Given the description of an element on the screen output the (x, y) to click on. 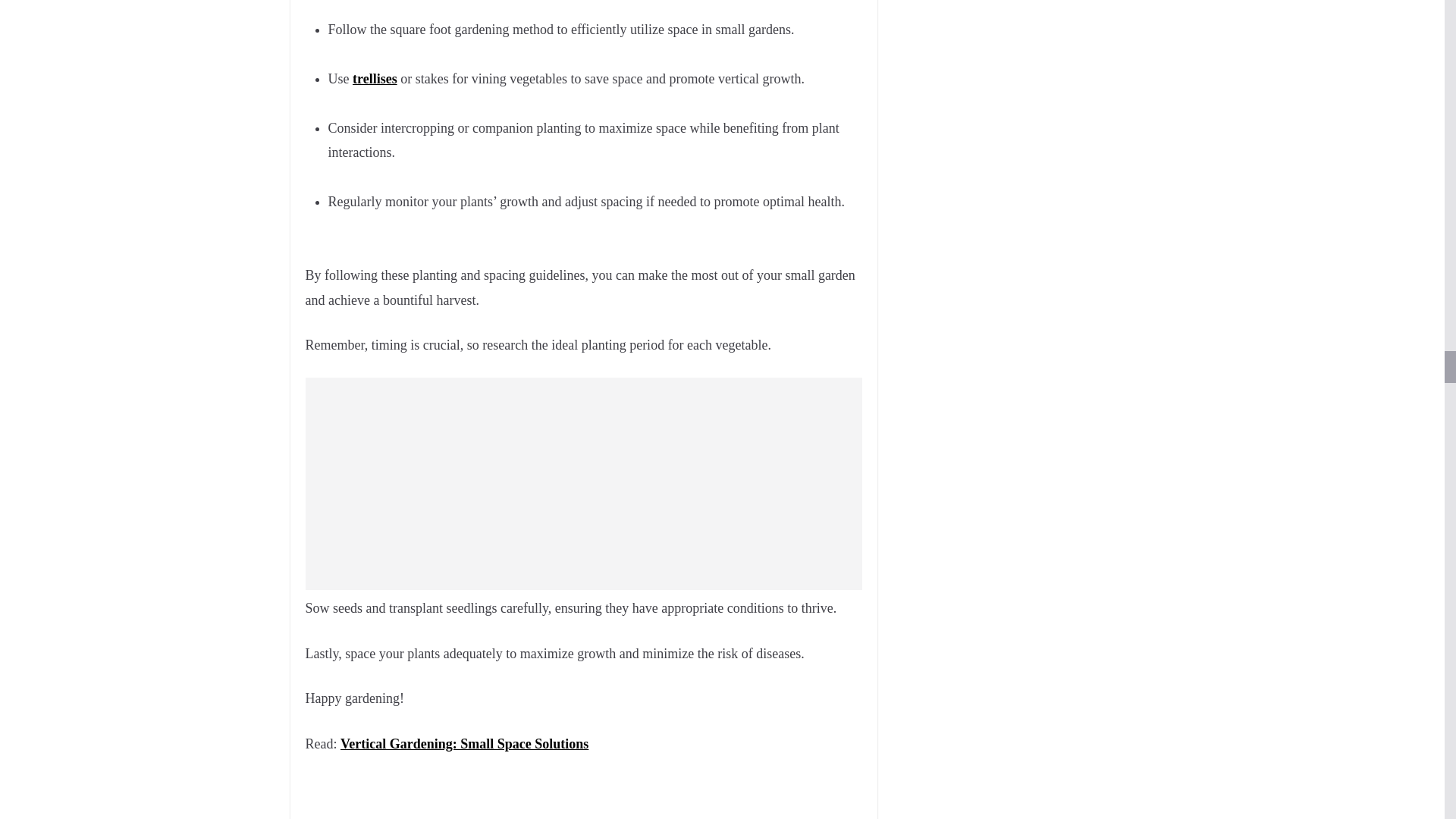
trellises (374, 78)
Vertical Gardening: Small Space Solutions (464, 743)
